Given the description of an element on the screen output the (x, y) to click on. 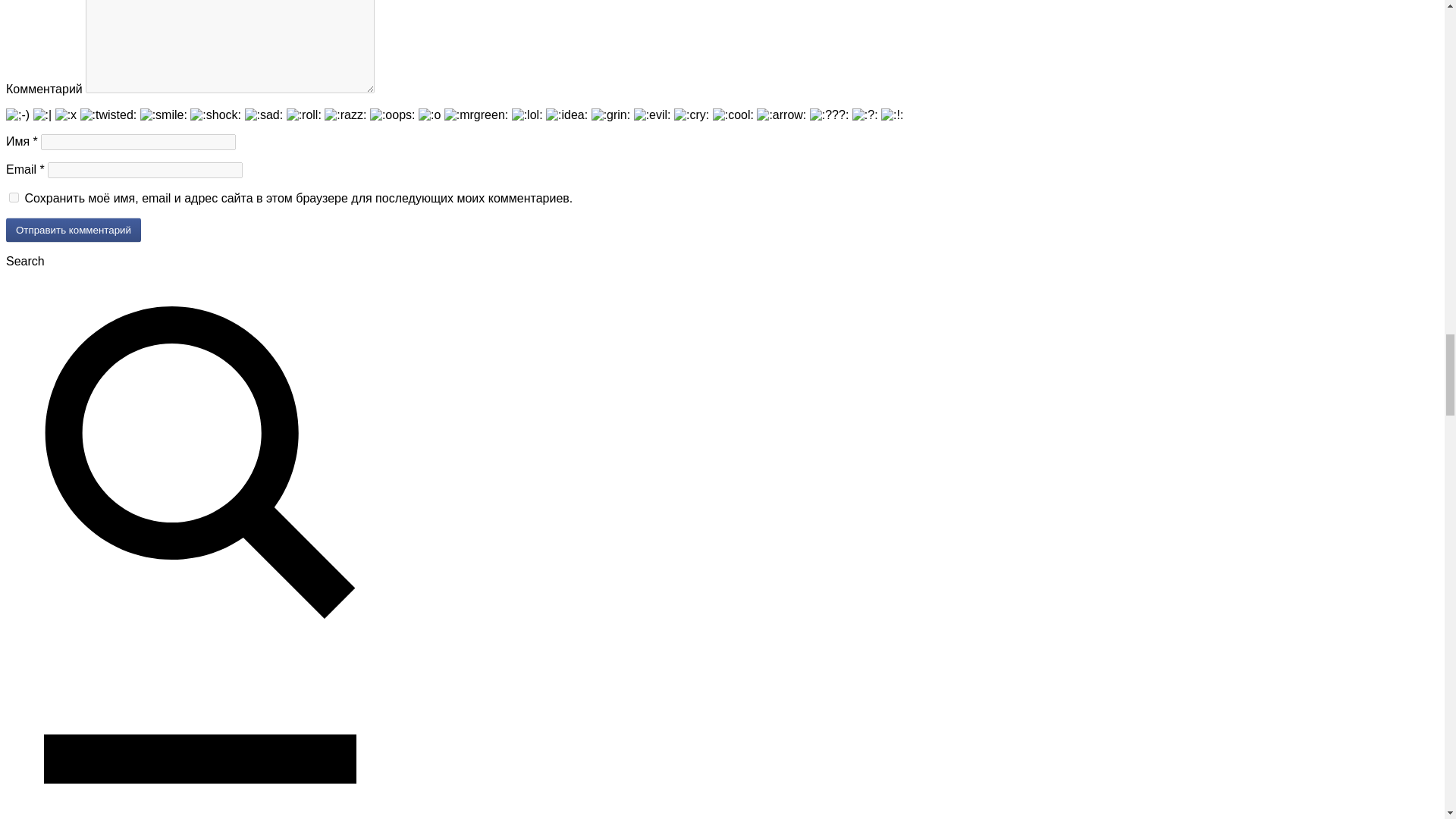
yes (13, 197)
